Given the description of an element on the screen output the (x, y) to click on. 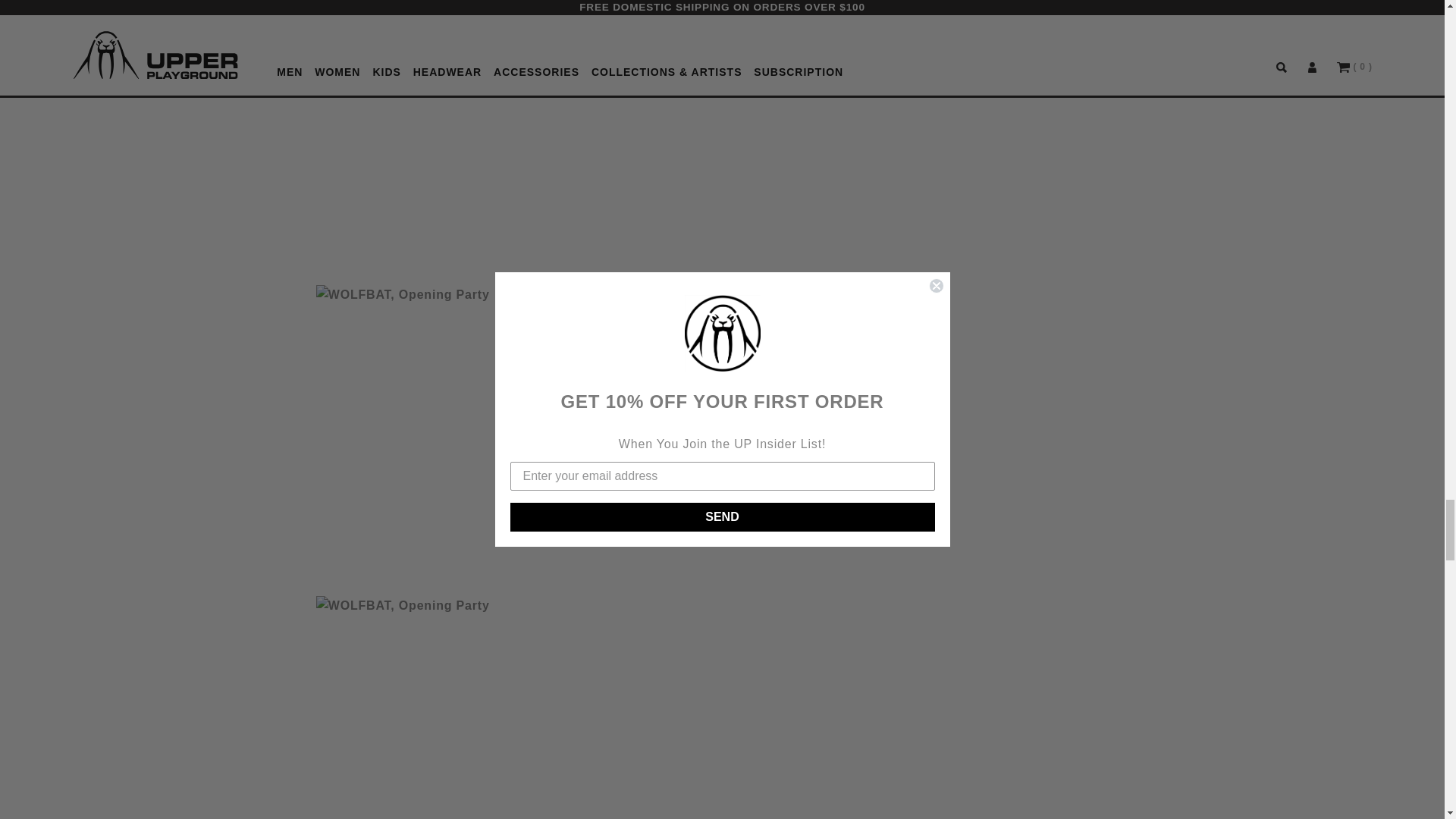
WOLFBAT, Opening Party (505, 707)
WOLFBAT, Opening Party (505, 134)
WOLFBAT, Opening Party (505, 428)
